Given the description of an element on the screen output the (x, y) to click on. 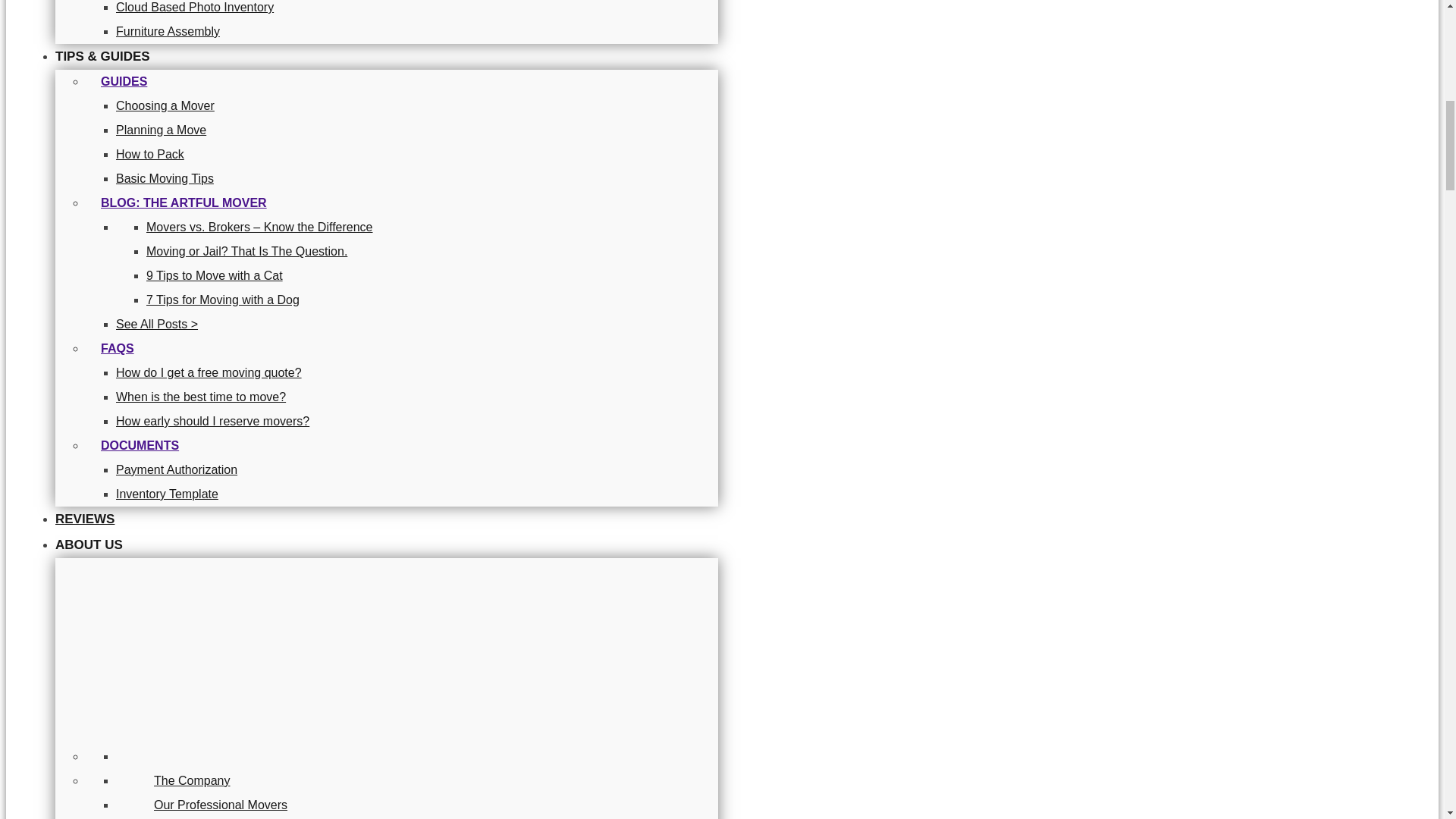
Planning a Move (161, 129)
Cloud Based Photo Inventory (194, 6)
Choosing a Mover (165, 105)
Furniture Assembly (167, 31)
Moving or Jail? That Is The Question. (247, 250)
GUIDES (123, 73)
BLOG: THE ARTFUL MOVER (183, 194)
9 Tips to Move with a Cat (214, 275)
How to Pack (150, 154)
Basic Moving Tips (165, 178)
